Given the description of an element on the screen output the (x, y) to click on. 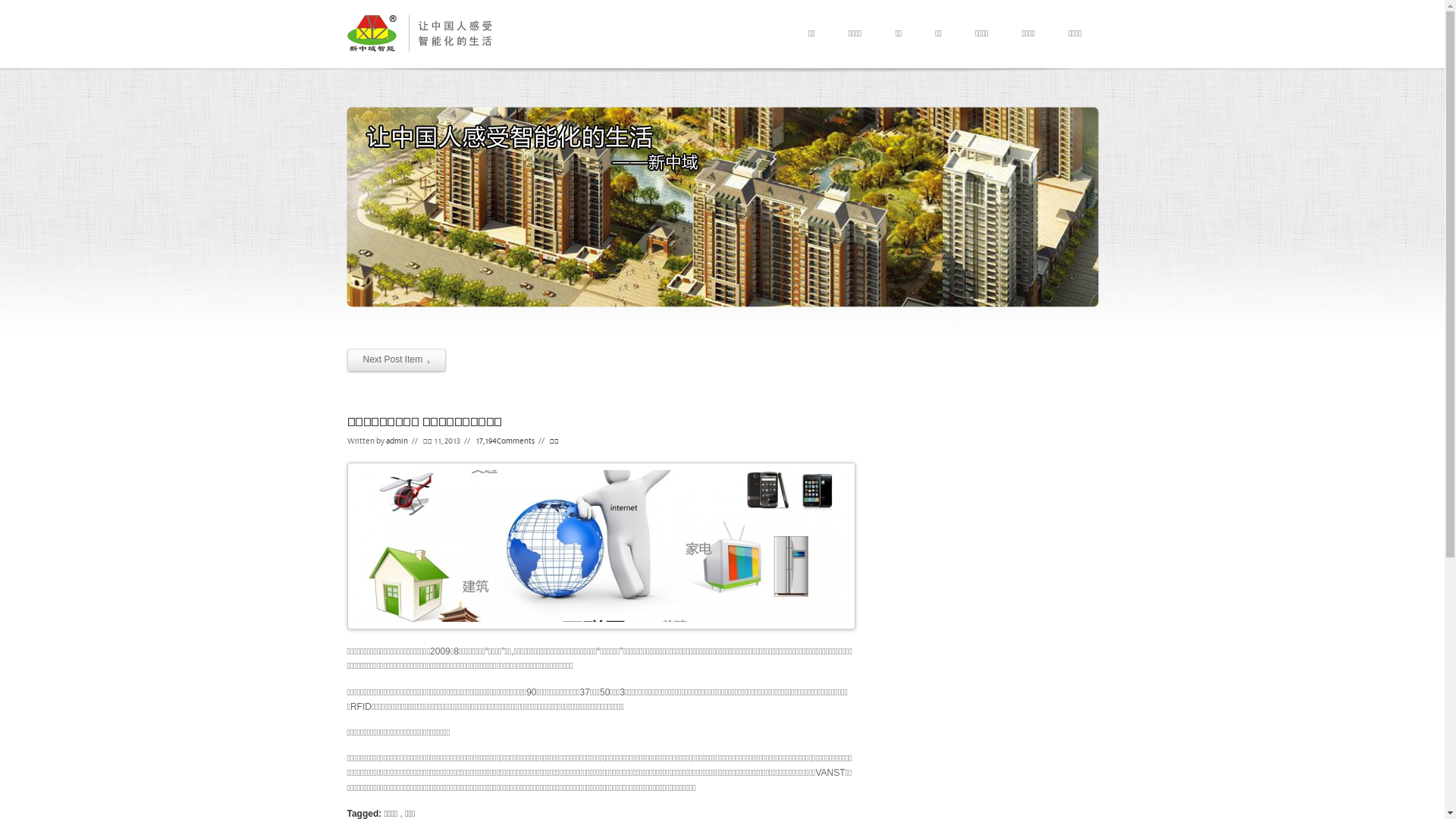
Next Post Item Element type: text (396, 359)
17,194Comments Element type: text (503, 439)
admin Element type: text (396, 439)
